Given the description of an element on the screen output the (x, y) to click on. 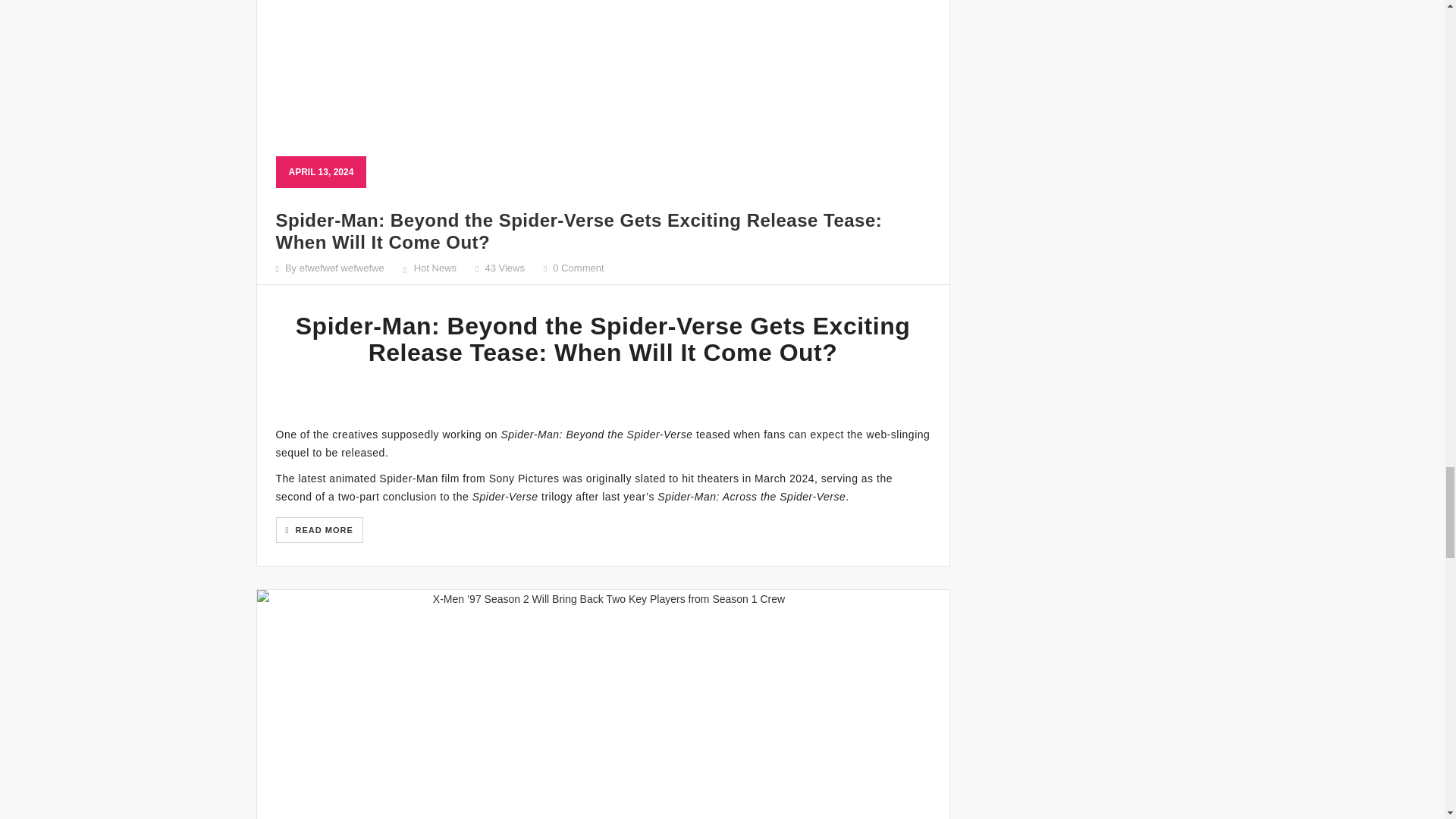
Hot News (435, 267)
